Given the description of an element on the screen output the (x, y) to click on. 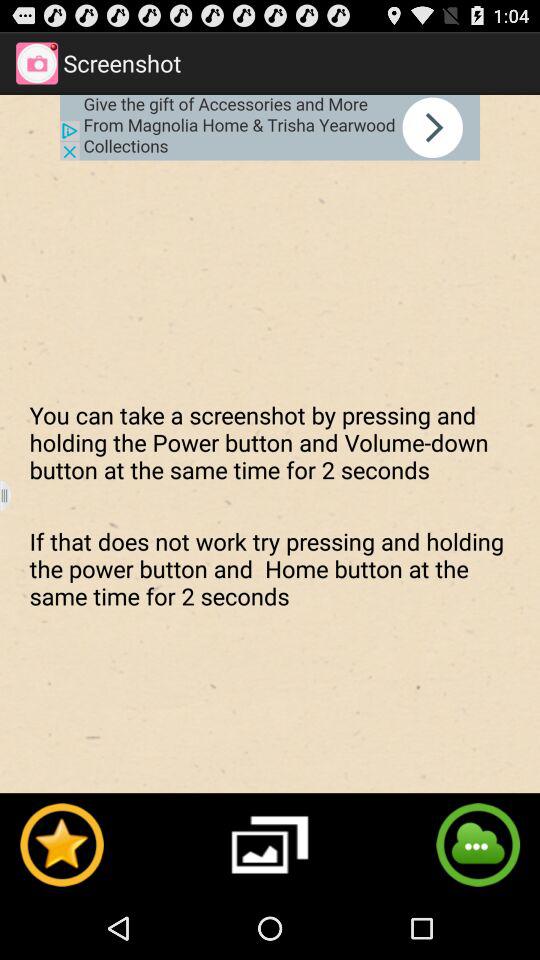
cloud storage link (478, 844)
